Given the description of an element on the screen output the (x, y) to click on. 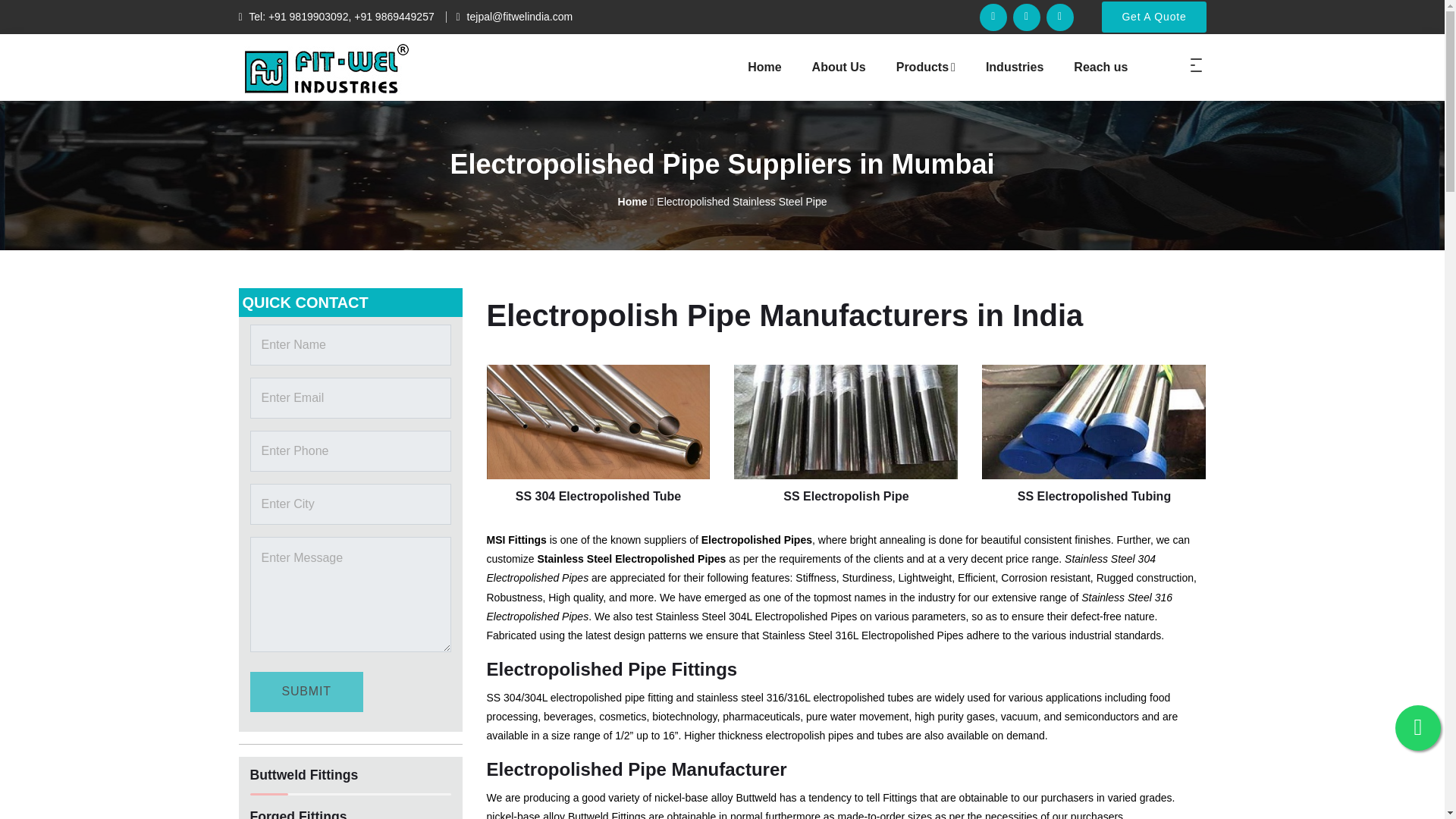
Products (925, 67)
Get A Quote (1153, 16)
About Us (937, 67)
Home (838, 67)
